Given the description of an element on the screen output the (x, y) to click on. 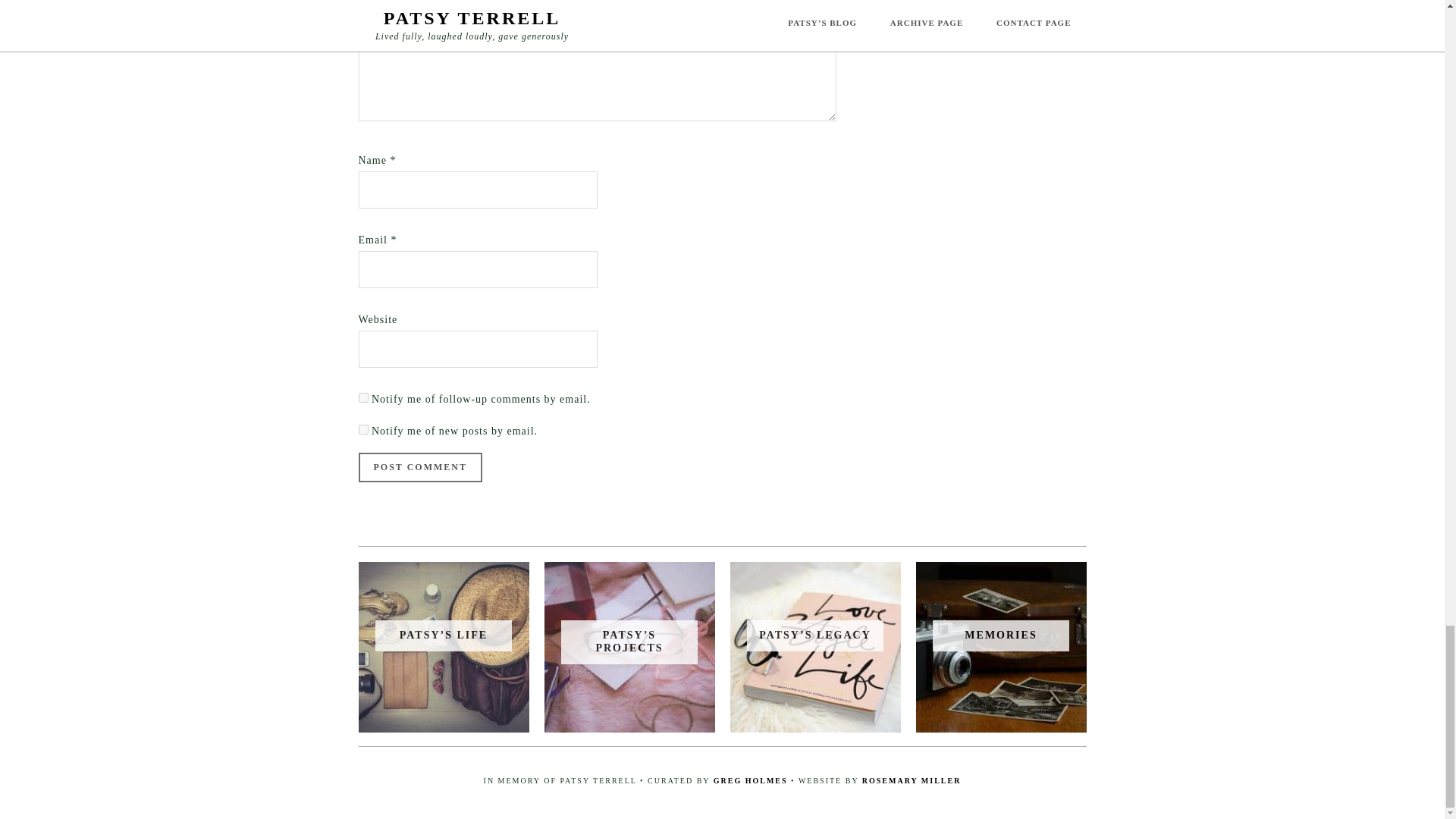
GREG HOLMES (750, 780)
subscribe (363, 397)
Post Comment (419, 467)
Post Comment (419, 467)
subscribe (363, 429)
ROSEMARY MILLER (910, 780)
MEMORIES (999, 634)
